Given the description of an element on the screen output the (x, y) to click on. 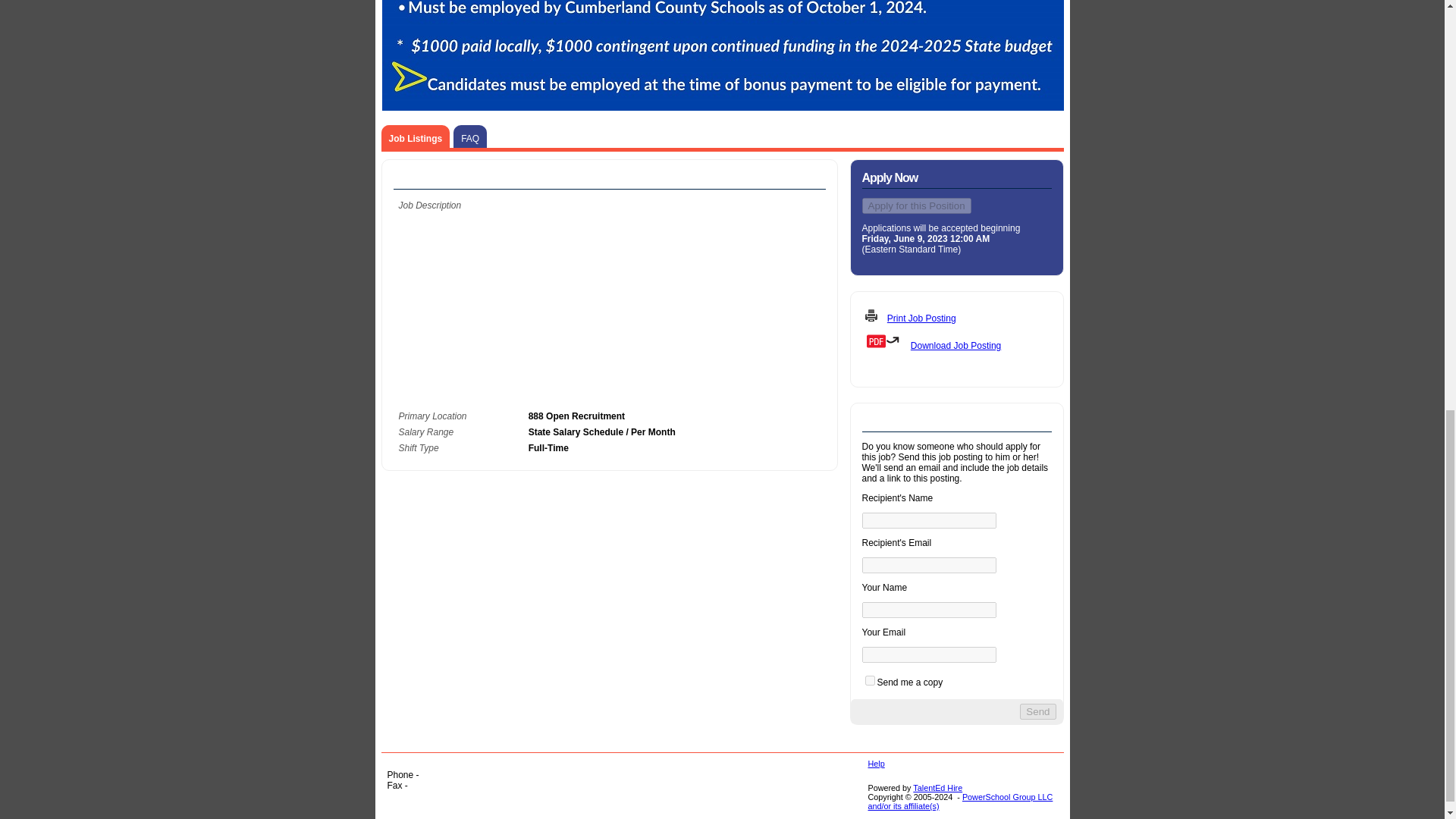
PDF Print Version (956, 341)
Apply for this Position (916, 205)
t (869, 680)
Help (875, 763)
Print Job Posting (921, 317)
Download Job Posting (956, 345)
TalentEd Hire (937, 787)
Send (1037, 711)
Apply for this Position (916, 205)
HTML Print Version (956, 316)
